Given the description of an element on the screen output the (x, y) to click on. 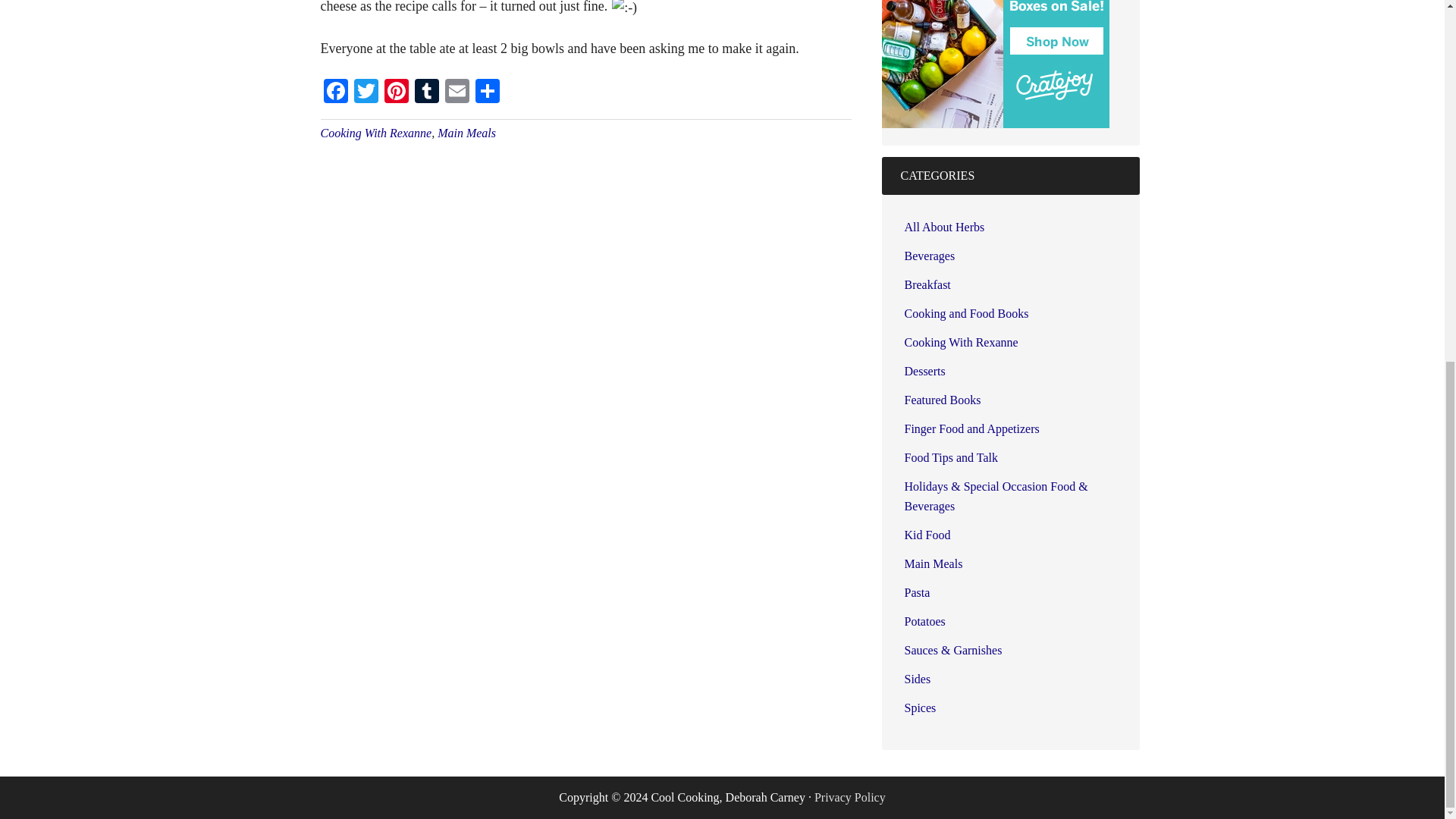
Food Tips and Talk (950, 457)
Tumblr (425, 92)
Twitter (365, 92)
Facebook (335, 92)
Pinterest (395, 92)
Cooking and Food Books (965, 313)
Email (456, 92)
Finger Food and Appetizers (971, 428)
Pinterest (395, 92)
Breakfast (927, 284)
